Given the description of an element on the screen output the (x, y) to click on. 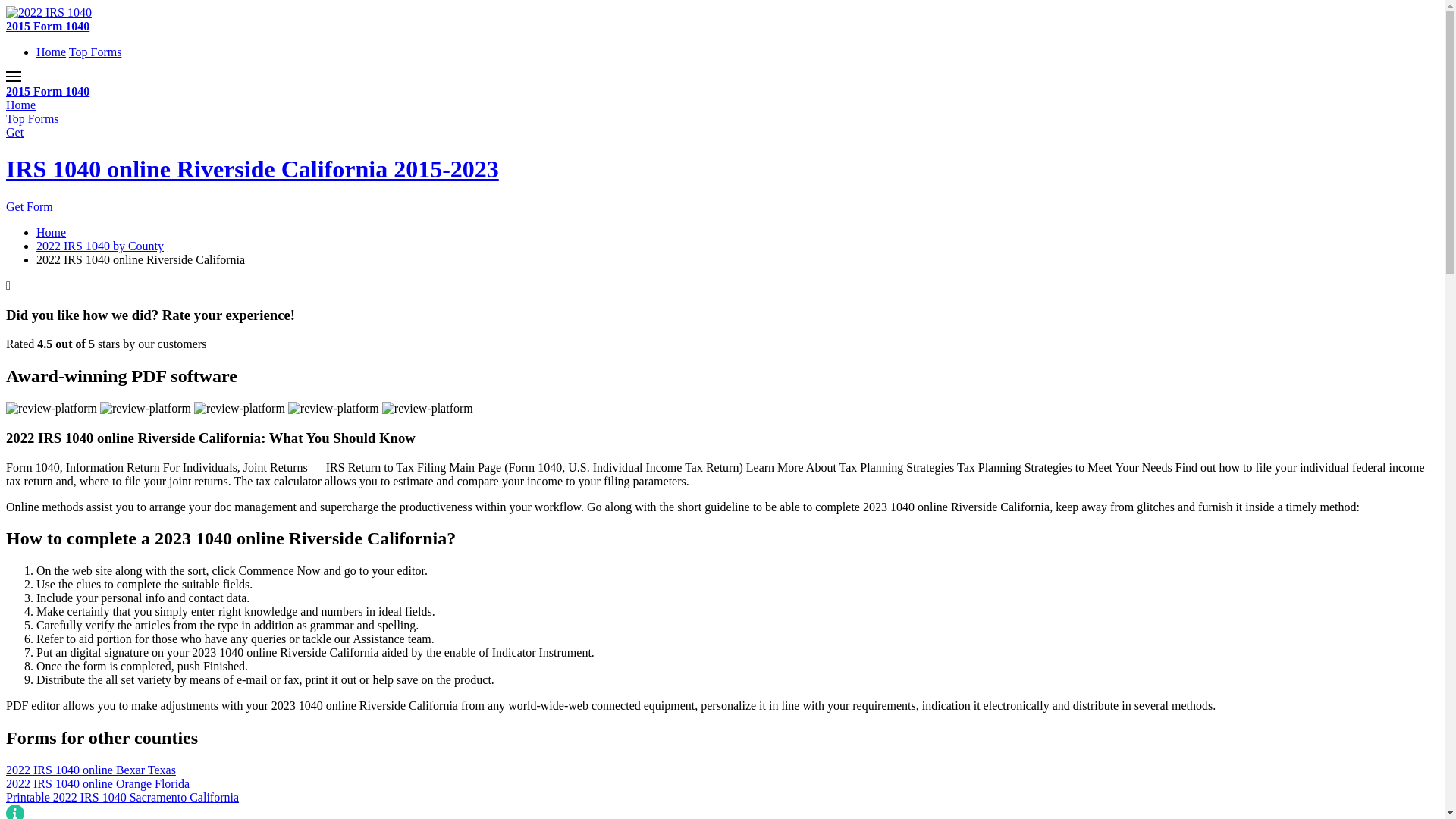
Top Forms Element type: text (95, 51)
Get
IRS 1040 online Riverside California 2015-2023
Get Form Element type: text (722, 169)
2022 IRS 1040 by County Element type: text (99, 245)
Home Element type: text (20, 104)
2022 IRS 1040 online Bexar Texas Element type: text (722, 770)
2015 Form 1040 Element type: text (47, 90)
Printable 2022 IRS 1040 Sacramento California Element type: text (722, 797)
Home Element type: text (50, 231)
2022 IRS 1040 online Orange Florida Element type: text (722, 783)
2015 Form 1040 Element type: text (47, 25)
Home Element type: text (50, 51)
Top Forms Element type: text (32, 118)
